Given the description of an element on the screen output the (x, y) to click on. 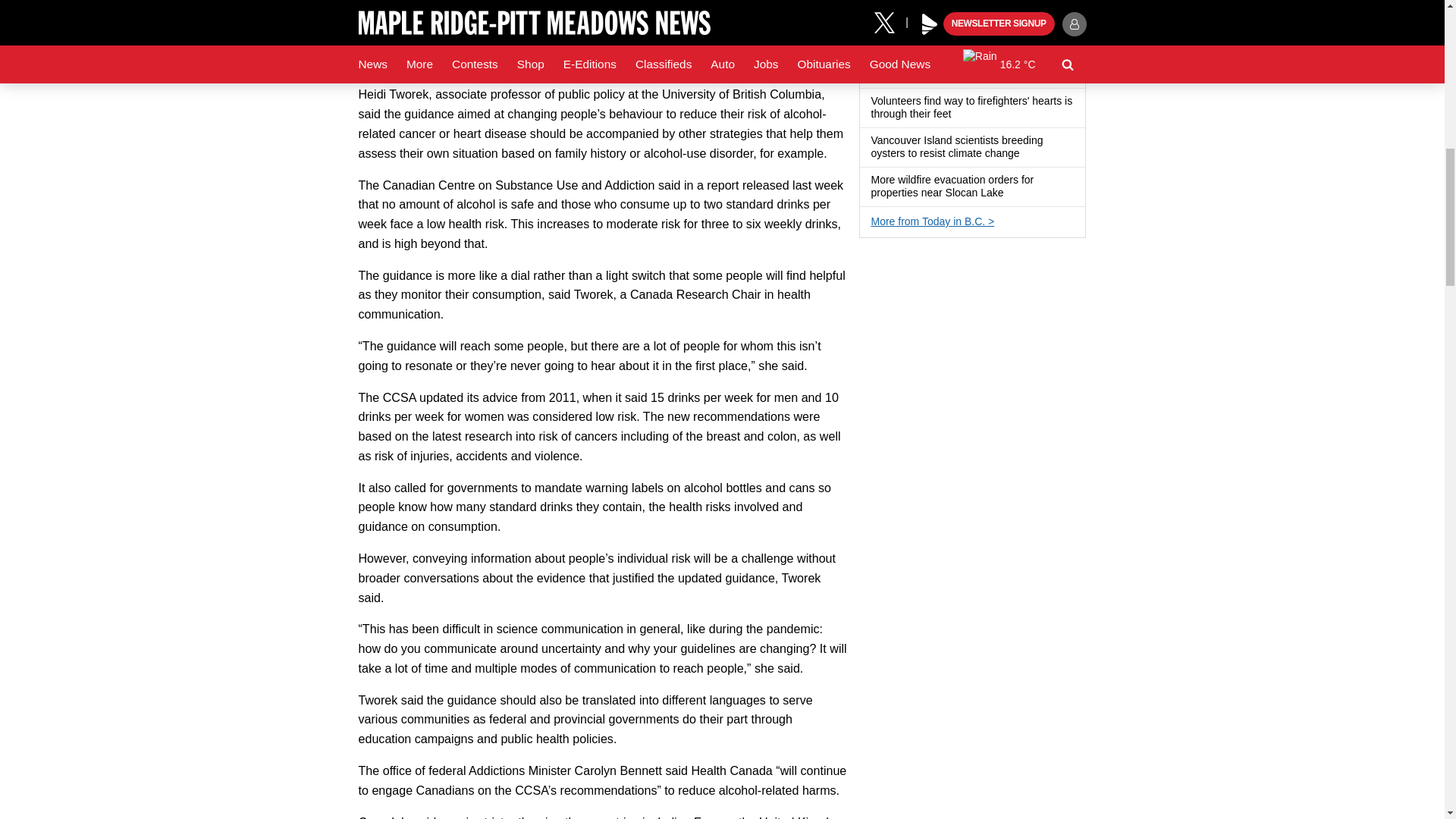
Has a gallery (1027, 153)
Has a gallery (959, 114)
